Given the description of an element on the screen output the (x, y) to click on. 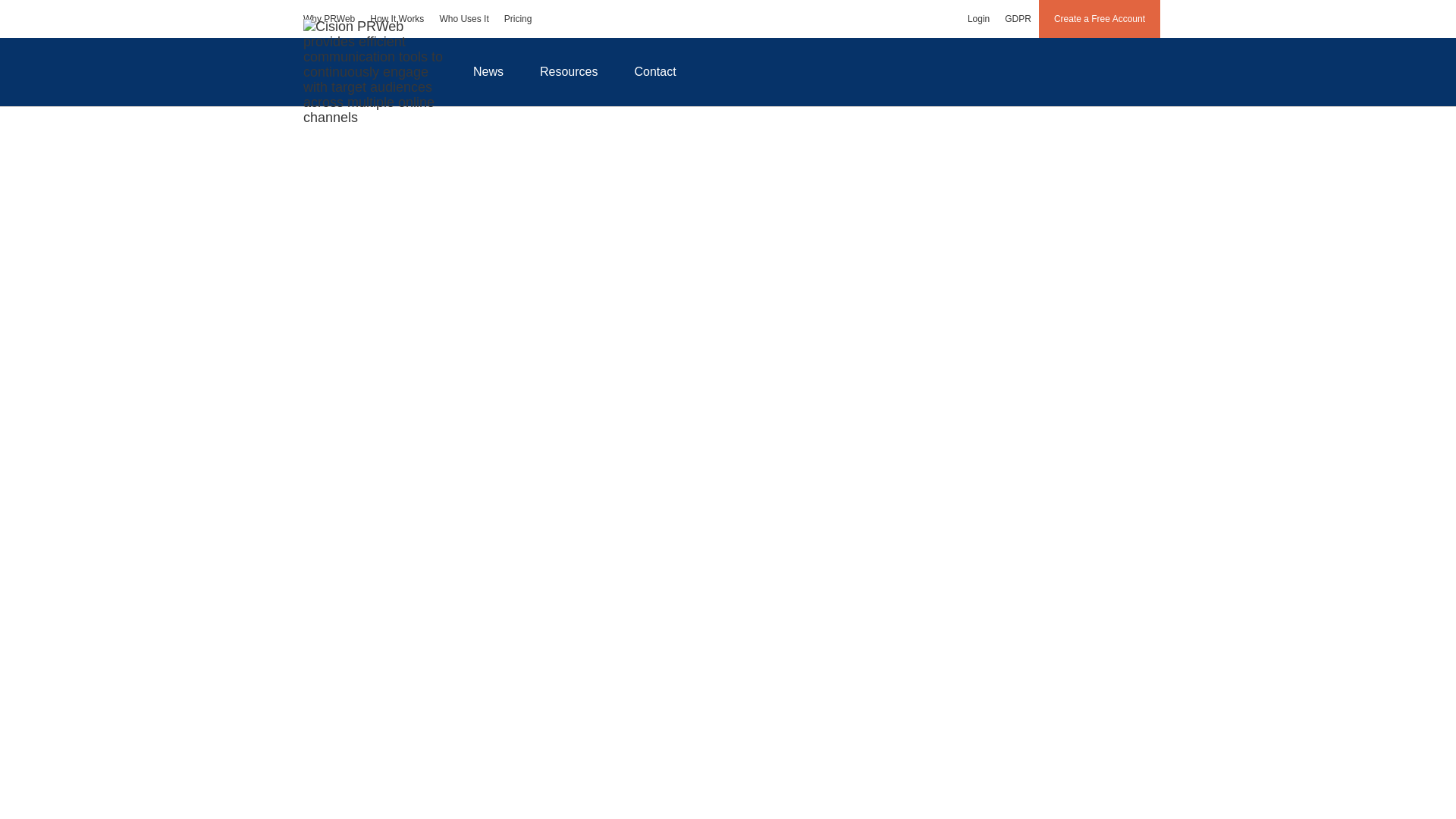
Pricing (518, 18)
Why PRWeb (328, 18)
Create a Free Account (1099, 18)
Contact (654, 71)
Resources (568, 71)
News (487, 71)
Login (978, 18)
GDPR (1018, 18)
How It Works (396, 18)
Who Uses It (463, 18)
